Given the description of an element on the screen output the (x, y) to click on. 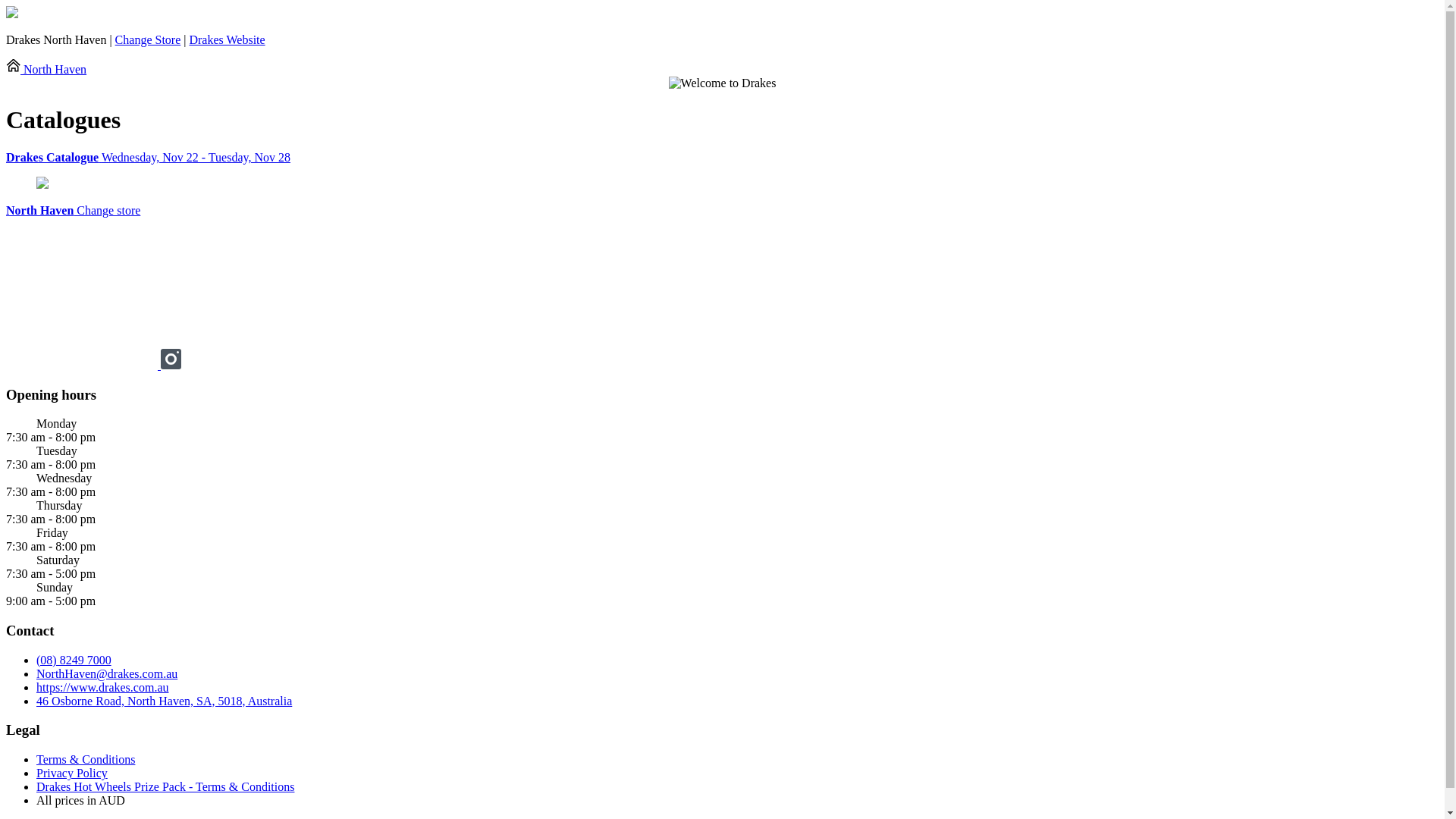
Terms & Conditions Element type: text (85, 759)
North Haven Change store Element type: text (73, 209)
https://www.drakes.com.au Element type: text (102, 686)
Drakes Catalogue Wednesday, Nov 22 - Tuesday, Nov 28 Element type: text (722, 156)
Instagram drakessupermarkets Element type: hover (170, 364)
Drakes Website Element type: text (226, 39)
(08) 8249 7000 Element type: text (73, 659)
North Haven Element type: text (46, 68)
46 Osborne Road, North Haven, SA, 5018, Australia Element type: text (163, 700)
Privacy Policy Element type: text (71, 772)
Facebook Element type: hover (83, 364)
Change Store Element type: text (148, 39)
NorthHaven@drakes.com.au Element type: text (106, 673)
Drakes Hot Wheels Prize Pack - Terms & Conditions Element type: text (165, 786)
